Given the description of an element on the screen output the (x, y) to click on. 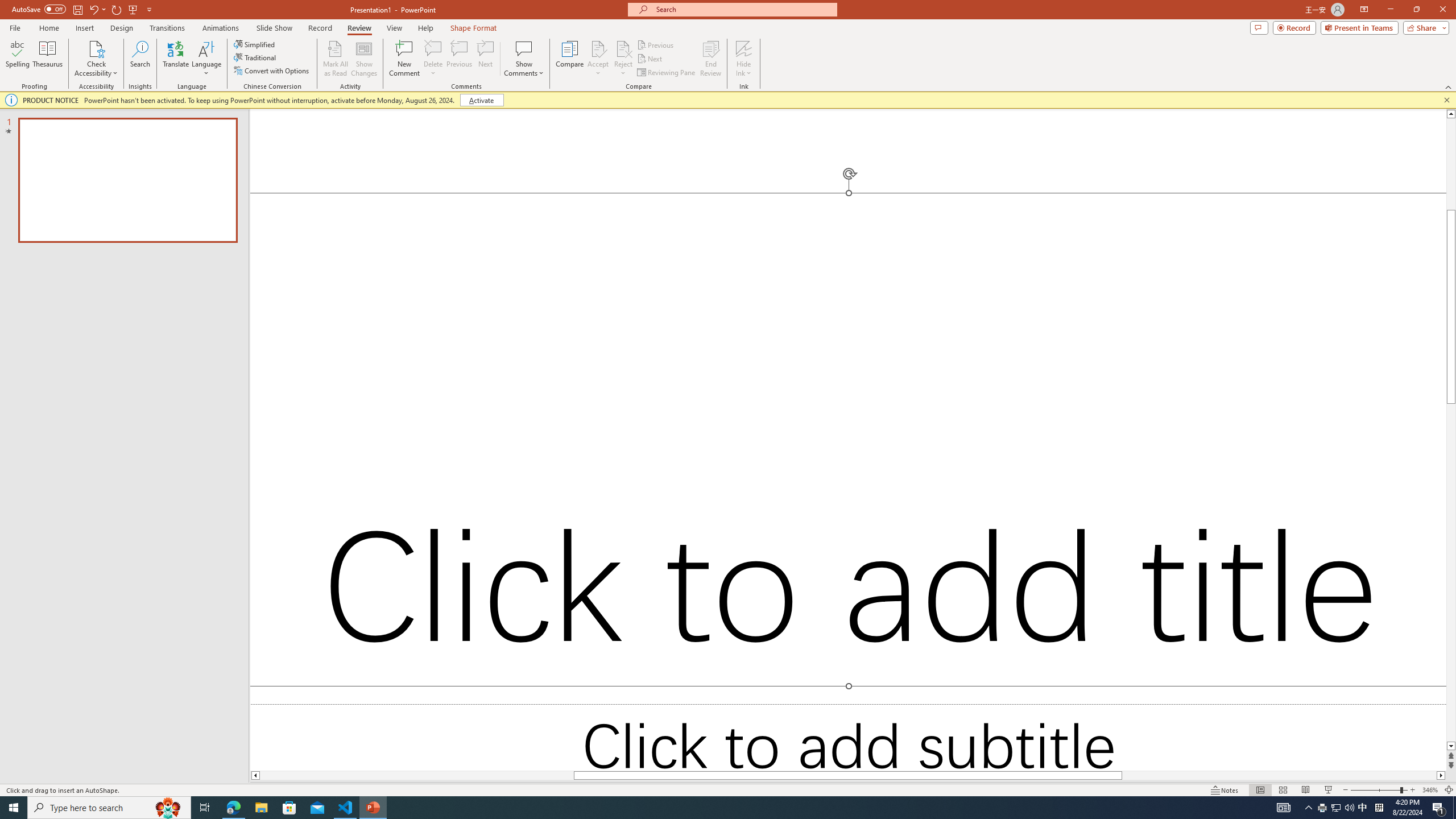
Accept (598, 58)
Reviewing Pane (666, 72)
Activate (481, 100)
Previous (655, 44)
End Review (710, 58)
